Given the description of an element on the screen output the (x, y) to click on. 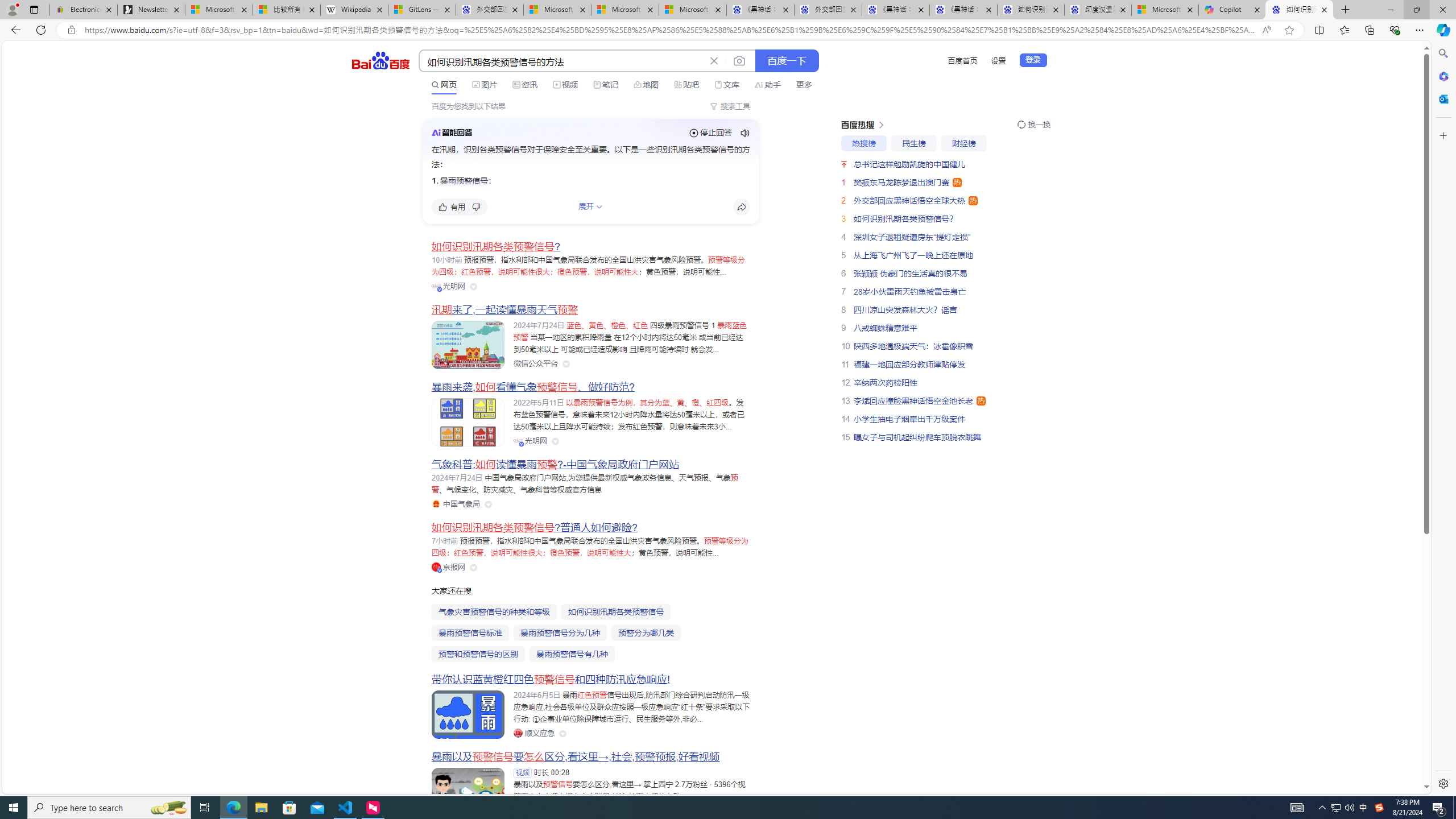
Minimize (1390, 9)
Restore (1416, 9)
